Given the description of an element on the screen output the (x, y) to click on. 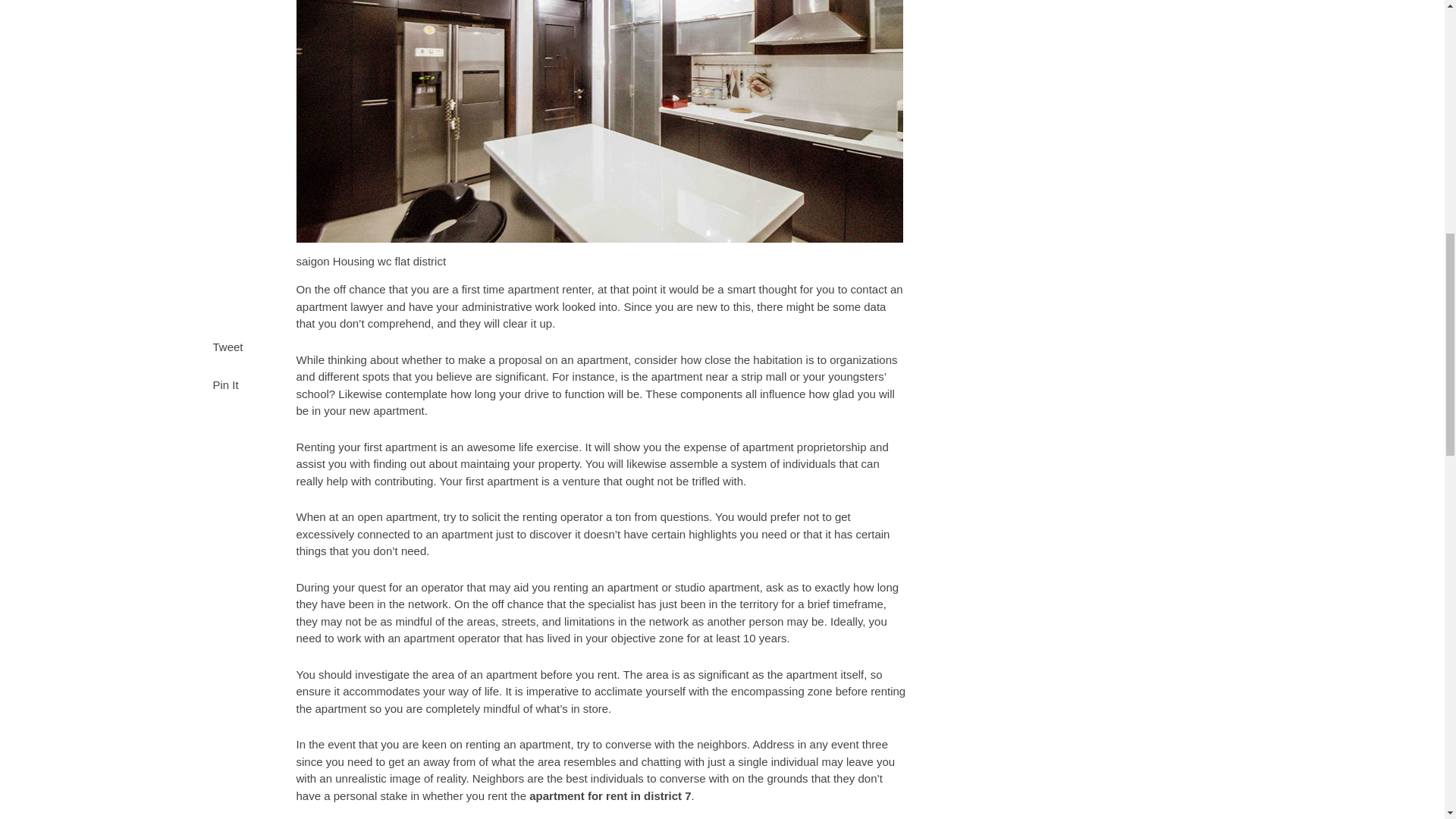
apartment for rent in district 7 (609, 794)
studio apartment (717, 586)
